Given the description of an element on the screen output the (x, y) to click on. 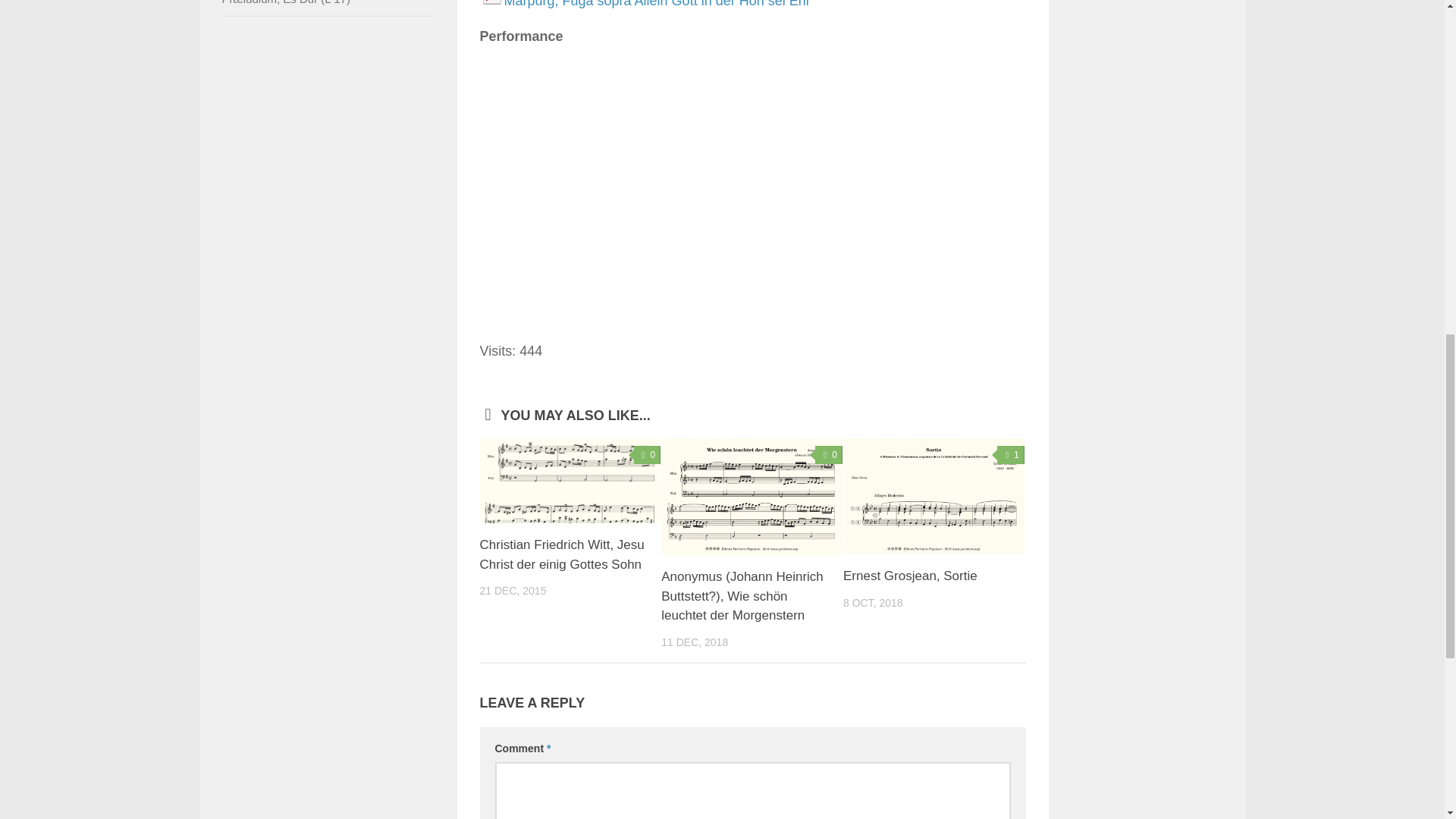
Christian Friedrich Witt, Jesu Christ der einig Gottes Sohn (561, 554)
Christian Friedrich Witt, Jesu Christ der einig Gottes Sohn (561, 554)
Ernest Grosjean, Sortie (909, 575)
Ernest Grosjean, Sortie (934, 496)
0 (829, 454)
Christian Friedrich Witt, Jesu Christ der einig Gottes Sohn (570, 480)
1 (1011, 454)
0 (647, 454)
Ernest Grosjean, Sortie (909, 575)
